Given the description of an element on the screen output the (x, y) to click on. 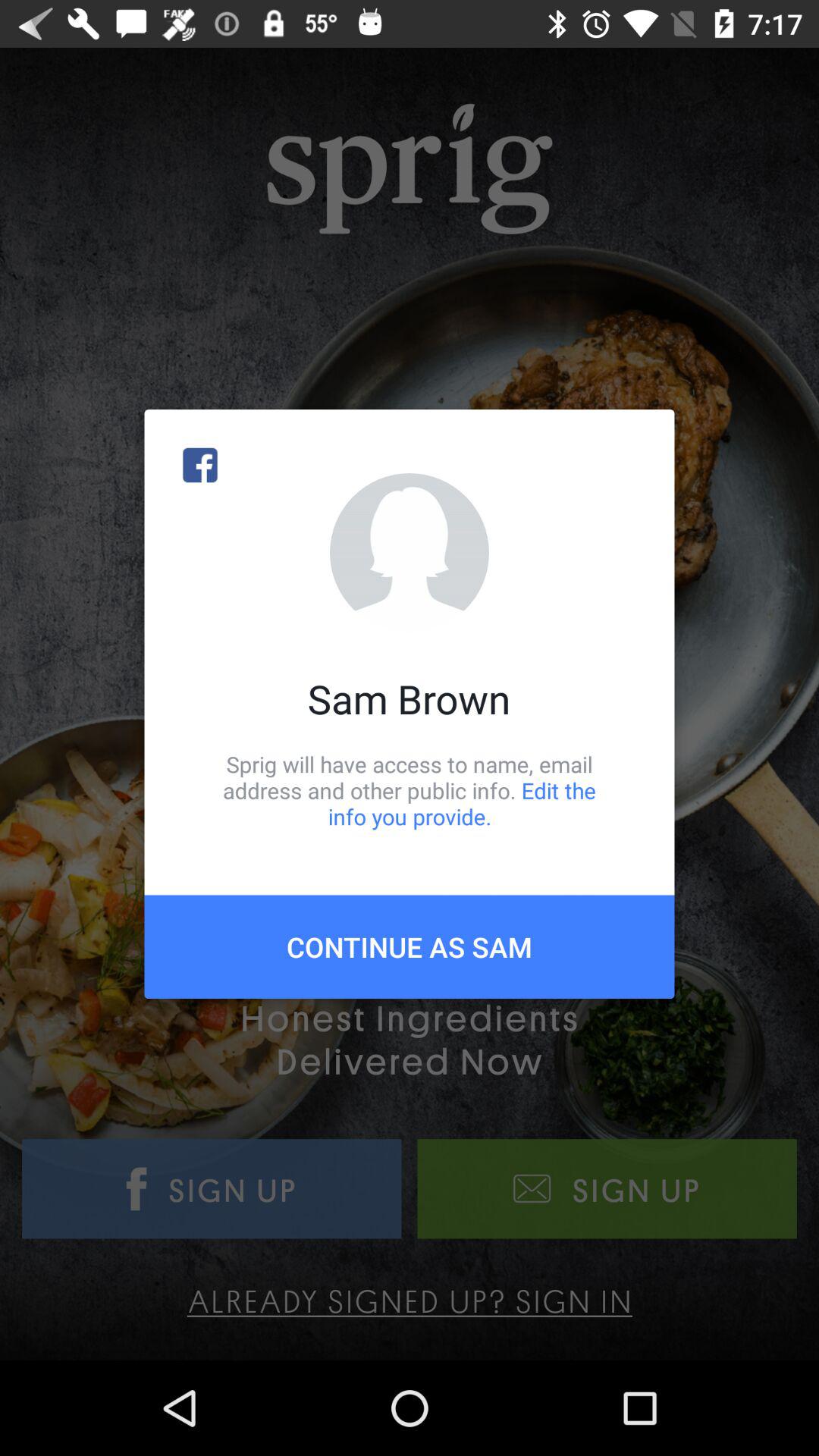
choose continue as sam (409, 946)
